Given the description of an element on the screen output the (x, y) to click on. 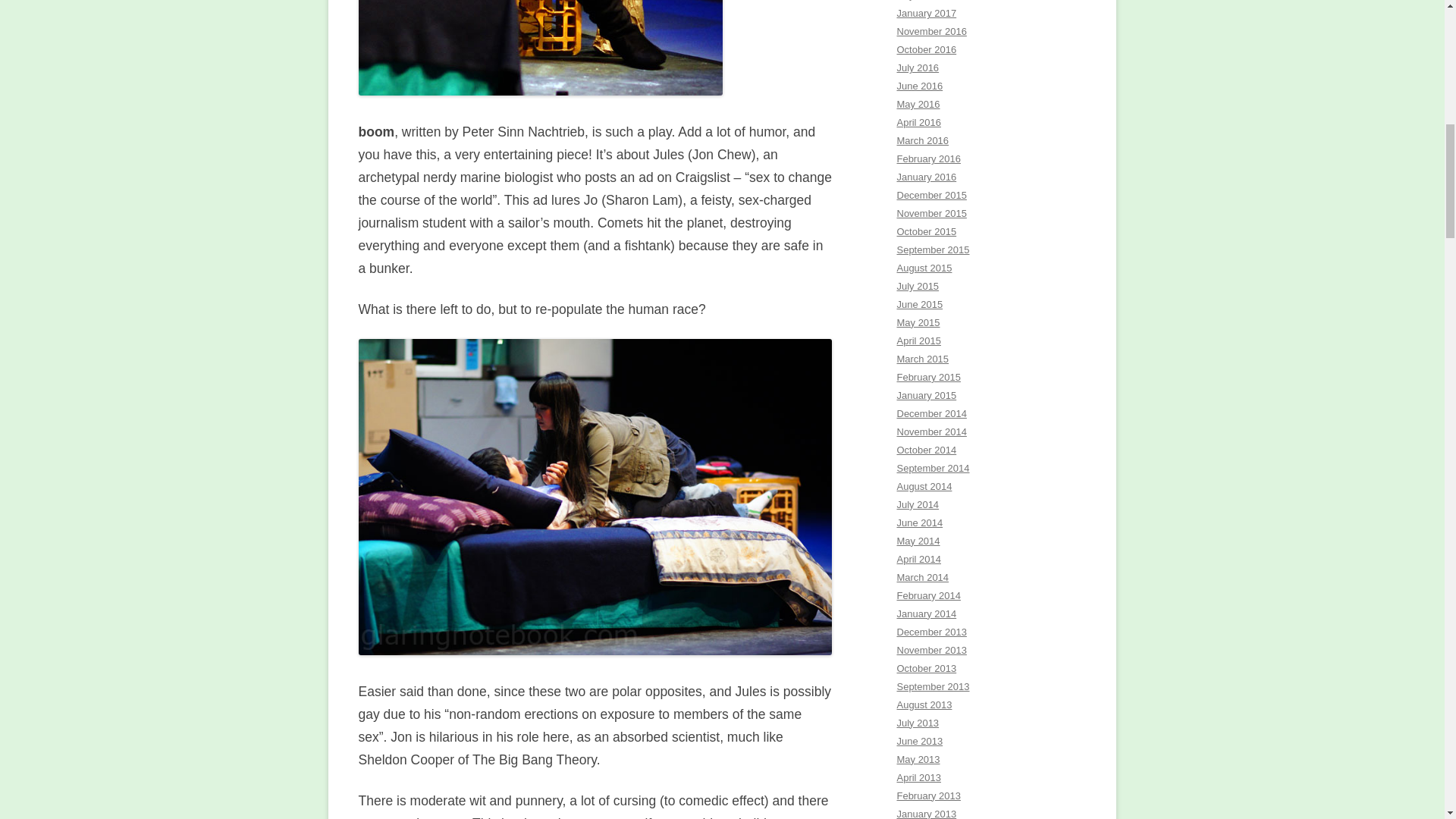
October 2016 (926, 49)
July 2017 (917, 0)
November 2016 (931, 30)
July 2016 (917, 67)
January 2017 (926, 12)
